Given the description of an element on the screen output the (x, y) to click on. 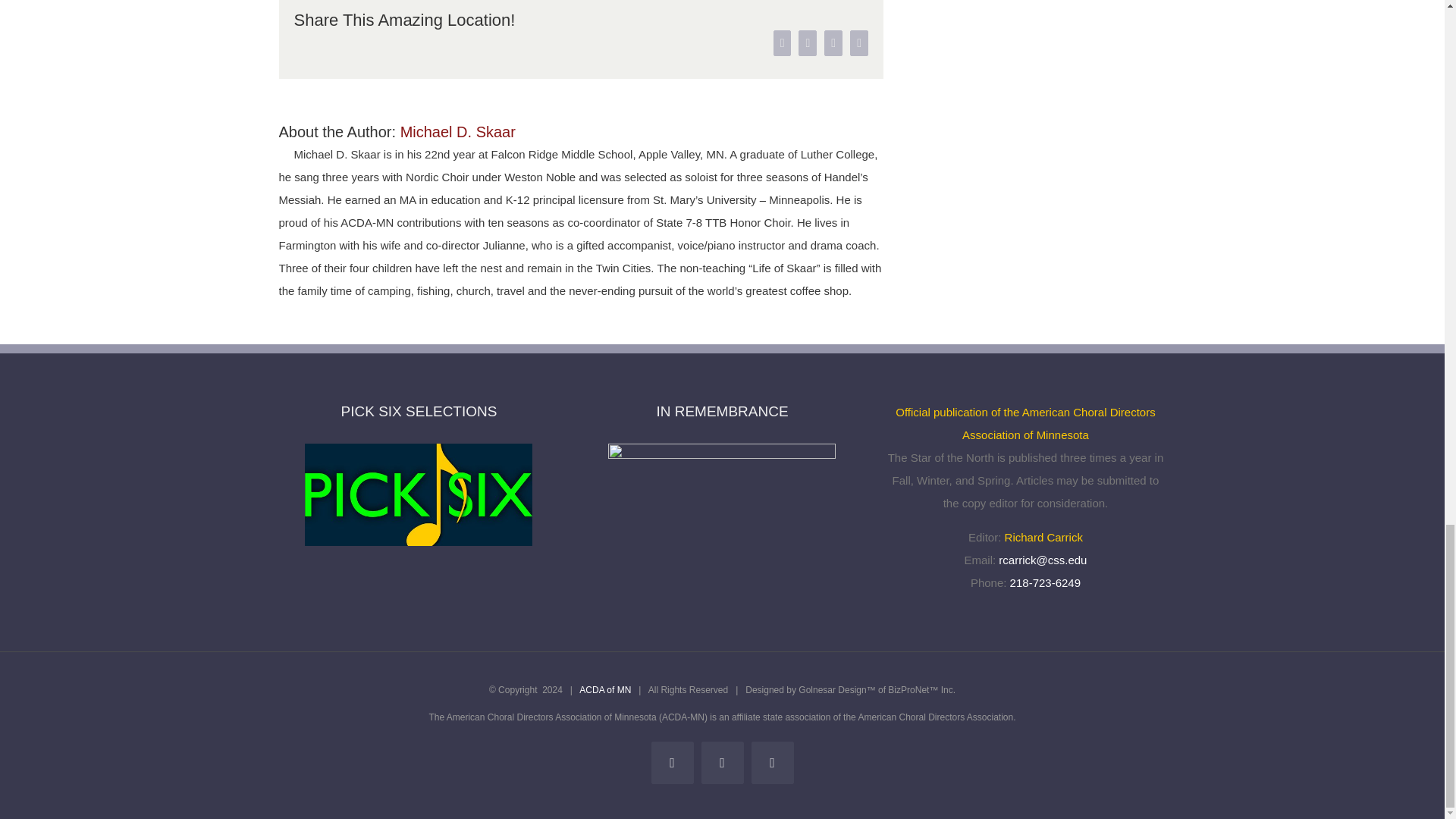
Facebook (671, 762)
YouTube (772, 762)
Posts by Michael D. Skaar (457, 131)
X (721, 762)
